Given the description of an element on the screen output the (x, y) to click on. 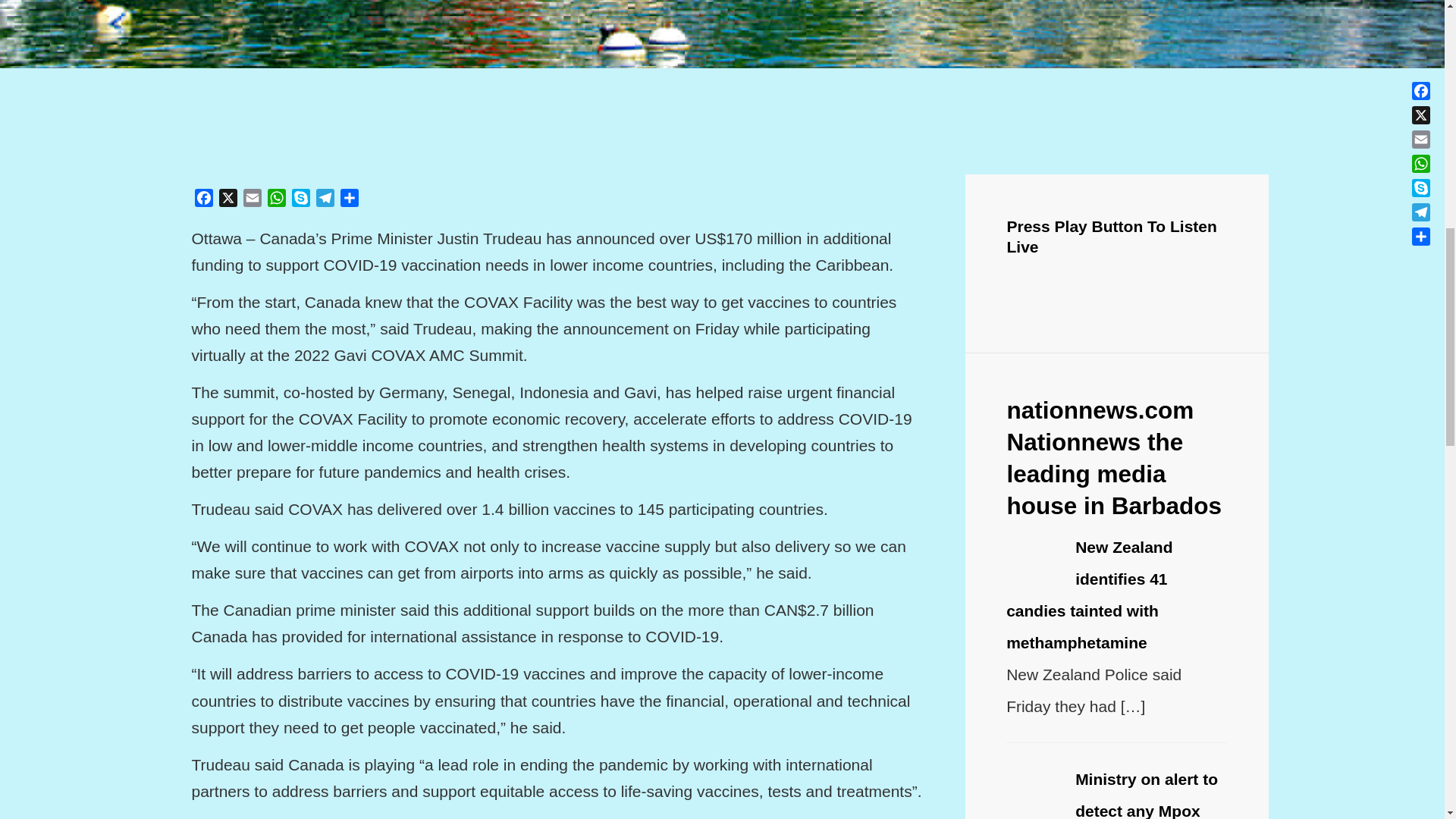
Facebook (202, 200)
WhatsApp (275, 200)
Facebook (202, 200)
Email (251, 200)
WhatsApp (275, 200)
Email (251, 200)
nationnews.com (1100, 410)
Telegram (324, 200)
Ministry on alert to detect any Mpox symptoms (1111, 794)
